Given the description of an element on the screen output the (x, y) to click on. 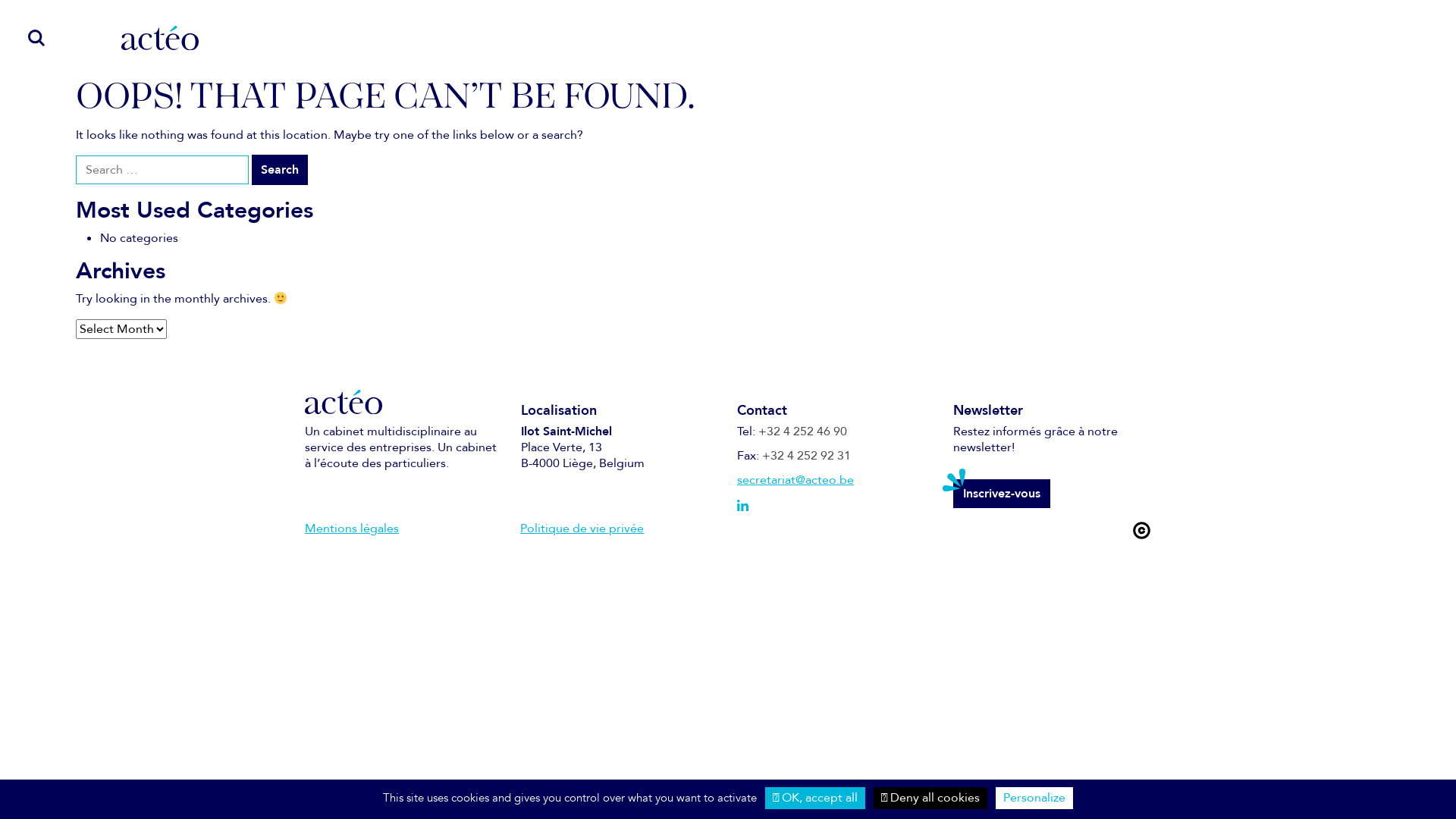
Acteo Element type: hover (159, 37)
+32 4 252 92 31 Element type: text (806, 455)
Deny all cookies Element type: text (930, 798)
+32 4 252 46 90 Element type: text (802, 431)
secretariat@acteo.be Element type: text (795, 479)
Inscrivez-vous Element type: text (1001, 493)
OK, accept all Element type: text (815, 798)
Personalize Element type: text (1034, 798)
Search Element type: text (279, 169)
